Given the description of an element on the screen output the (x, y) to click on. 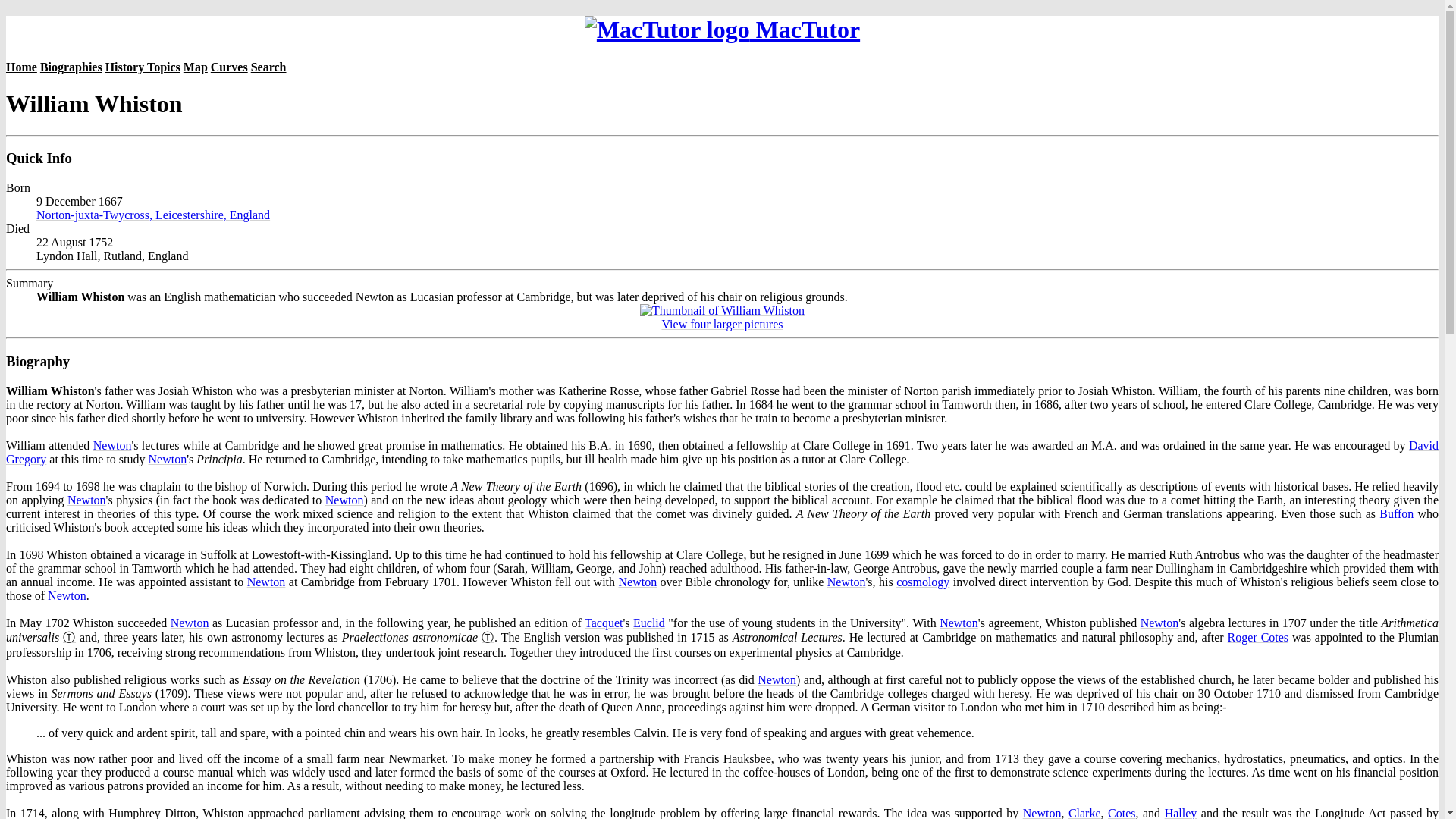
Tacquet (604, 622)
Newton (846, 581)
Newton (167, 459)
Euclid (649, 622)
Newton (112, 445)
Halley (1180, 812)
Buffon (1395, 513)
Newton (66, 594)
History Topics (142, 66)
Newton (958, 622)
Newton (86, 499)
Map (195, 66)
Newton (1042, 812)
Roger Cotes (1257, 636)
cosmology (922, 581)
